Given the description of an element on the screen output the (x, y) to click on. 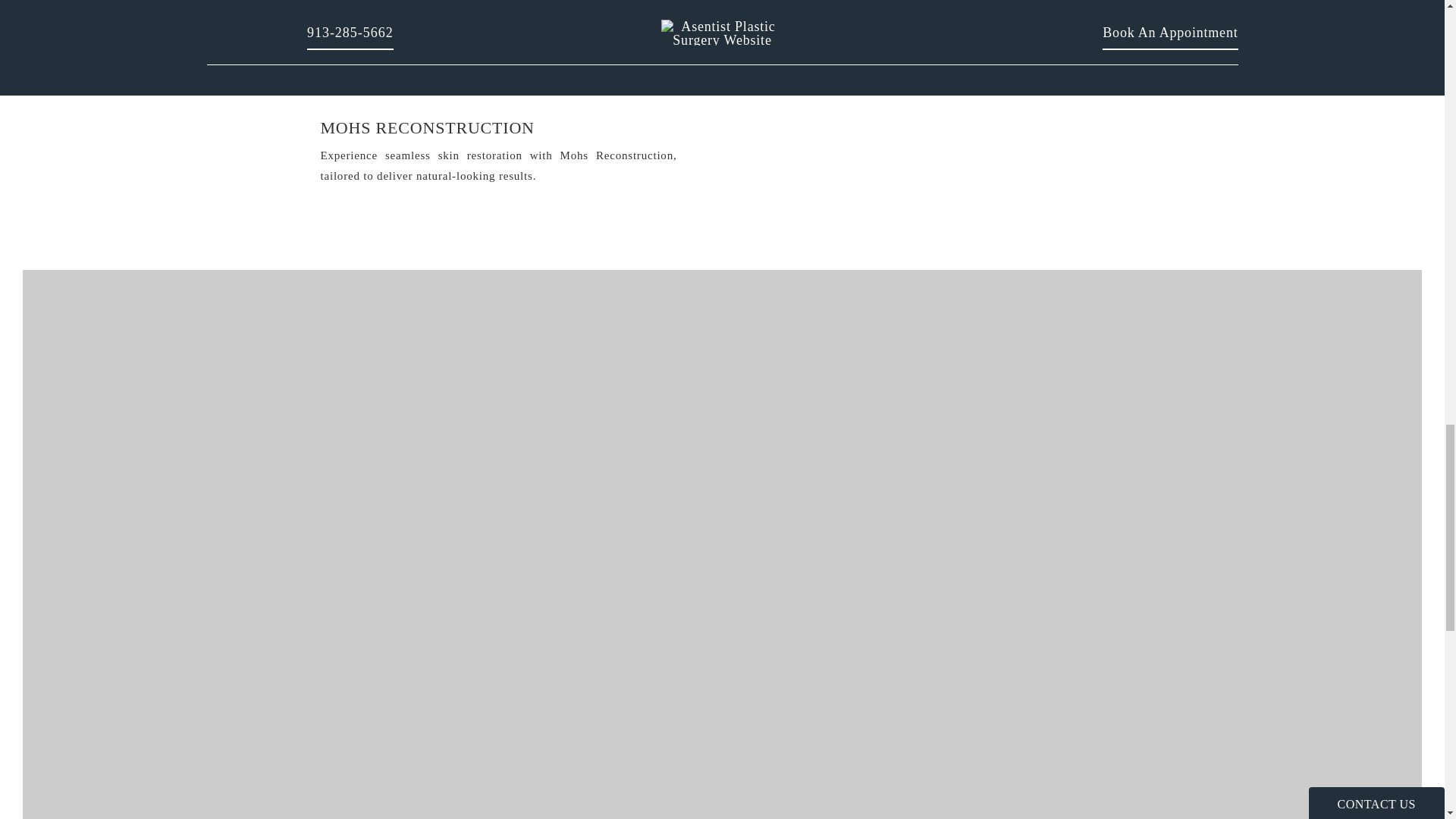
Opens Mohs Reconstruction page (498, 40)
